Given the description of an element on the screen output the (x, y) to click on. 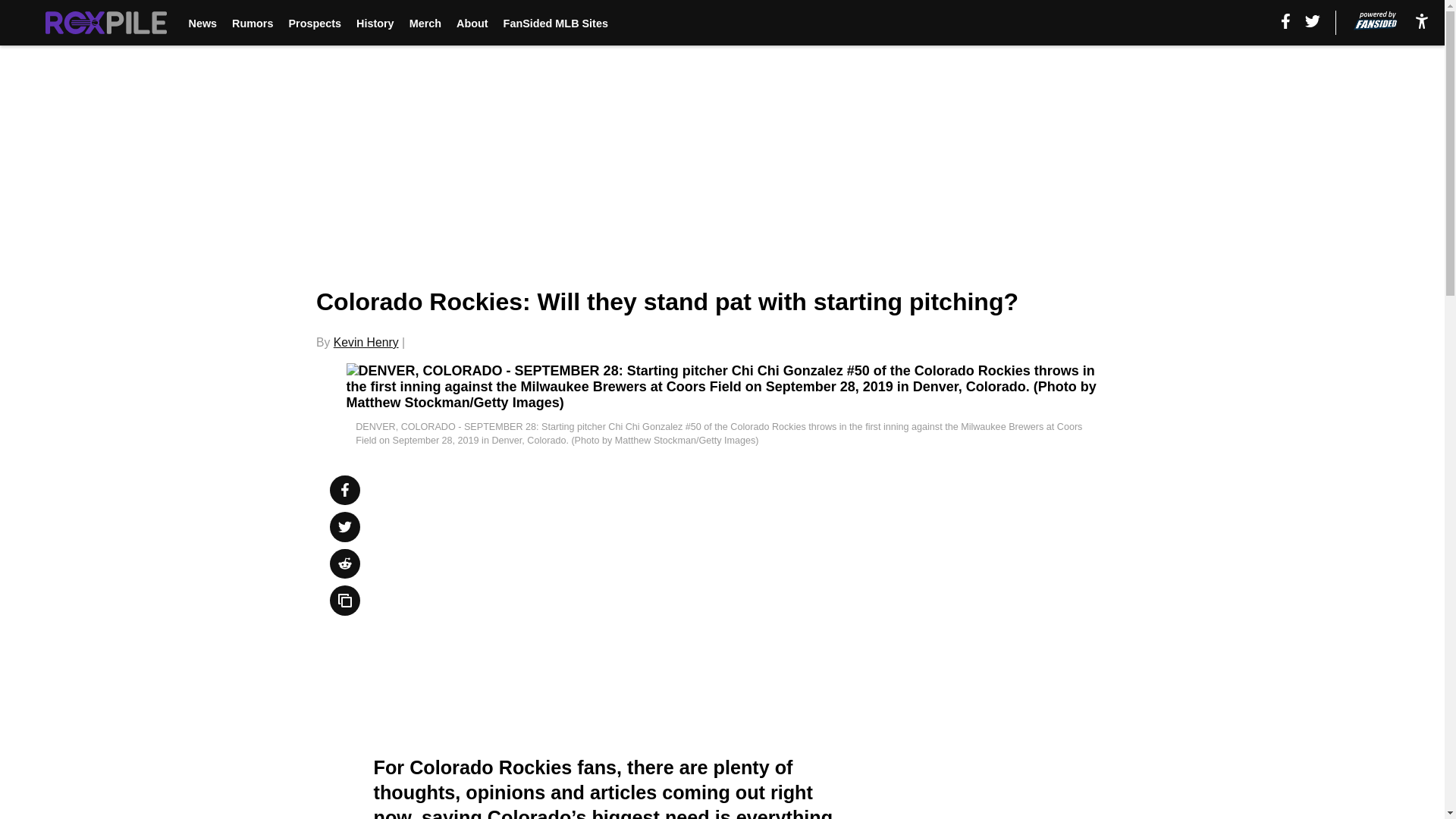
FanSided MLB Sites (555, 23)
Prospects (314, 23)
History (375, 23)
Kevin Henry (365, 341)
About (472, 23)
News (201, 23)
Rumors (252, 23)
Merch (425, 23)
